Given the description of an element on the screen output the (x, y) to click on. 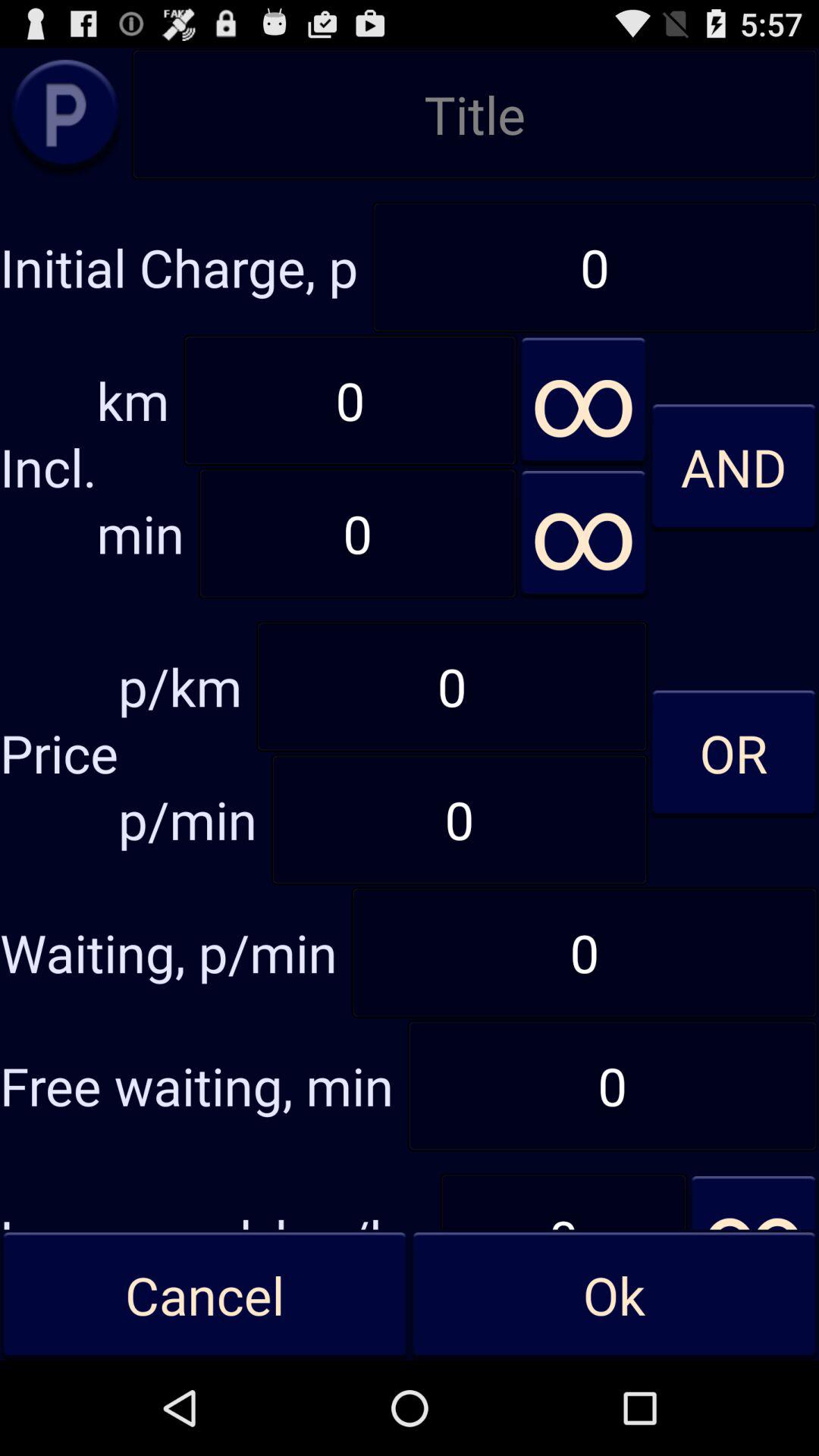
title (474, 113)
